Given the description of an element on the screen output the (x, y) to click on. 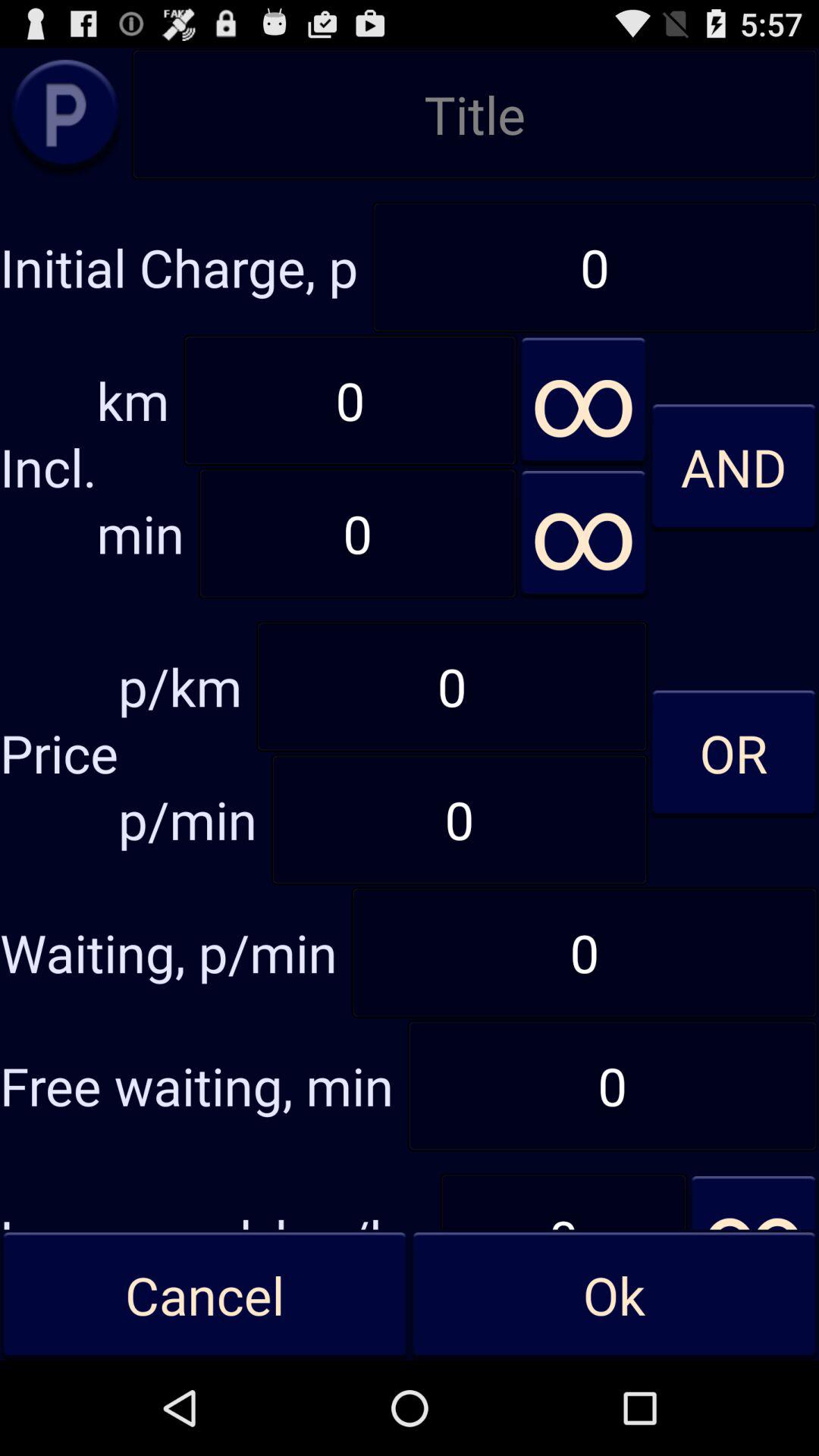
title (474, 113)
